Given the description of an element on the screen output the (x, y) to click on. 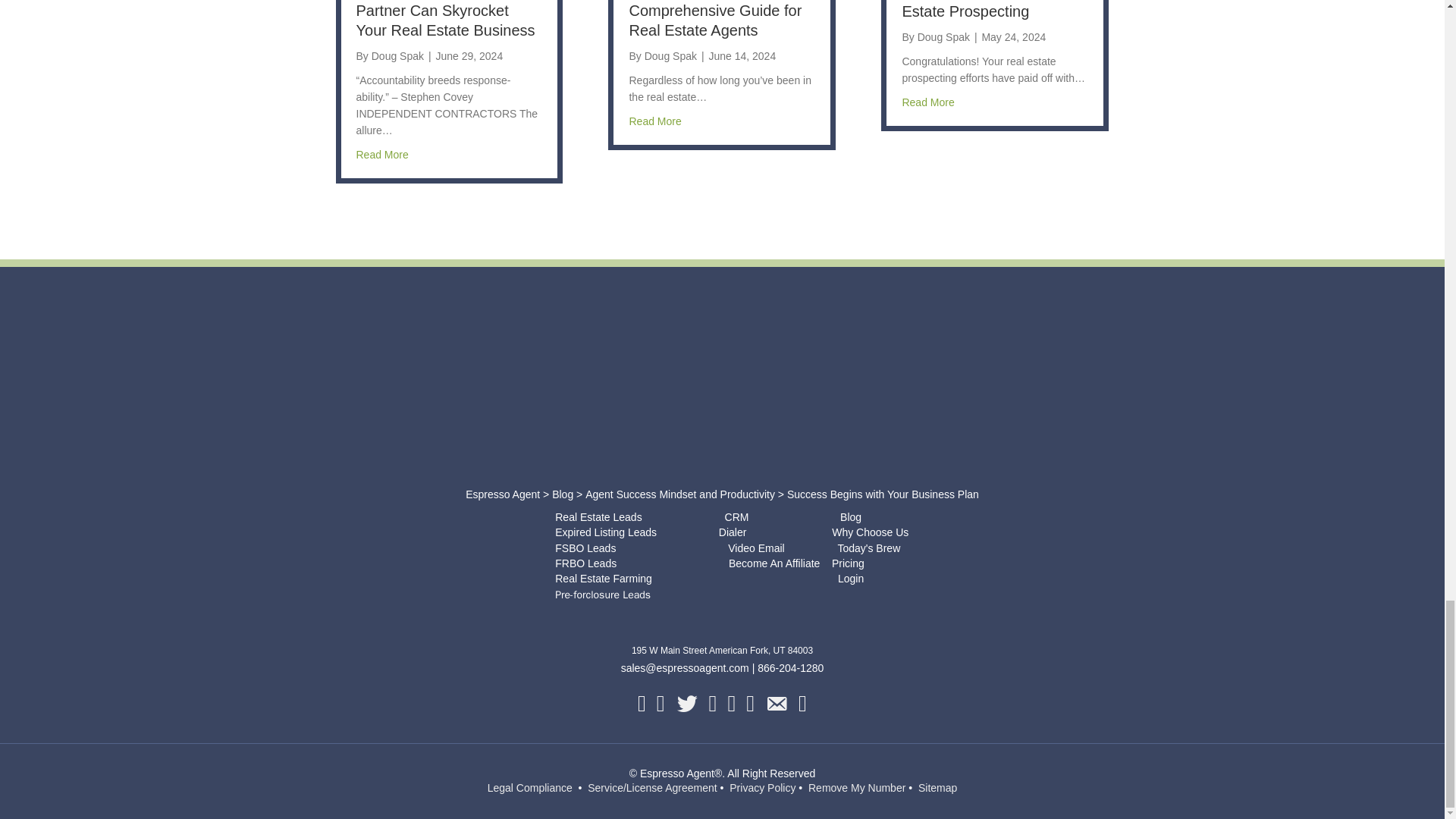
Power Closing in Real Estate Prospecting (976, 9)
